Given the description of an element on the screen output the (x, y) to click on. 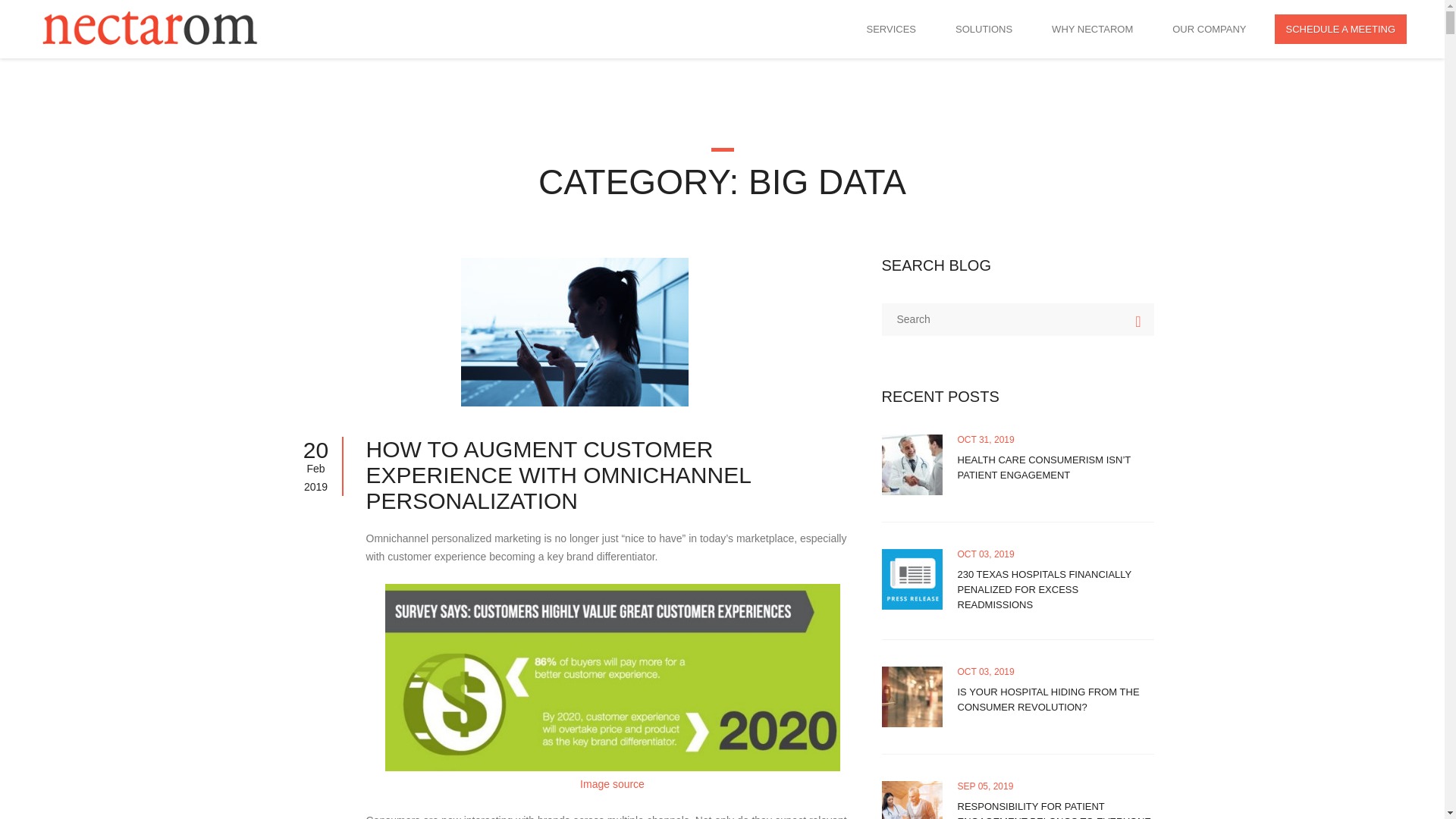
SOLUTIONS (983, 29)
WHY NECTAROM (1092, 29)
SCHEDULE A MEETING (1340, 29)
Image source (612, 784)
OUR COMPANY (1208, 29)
SERVICES (890, 29)
